Given the description of an element on the screen output the (x, y) to click on. 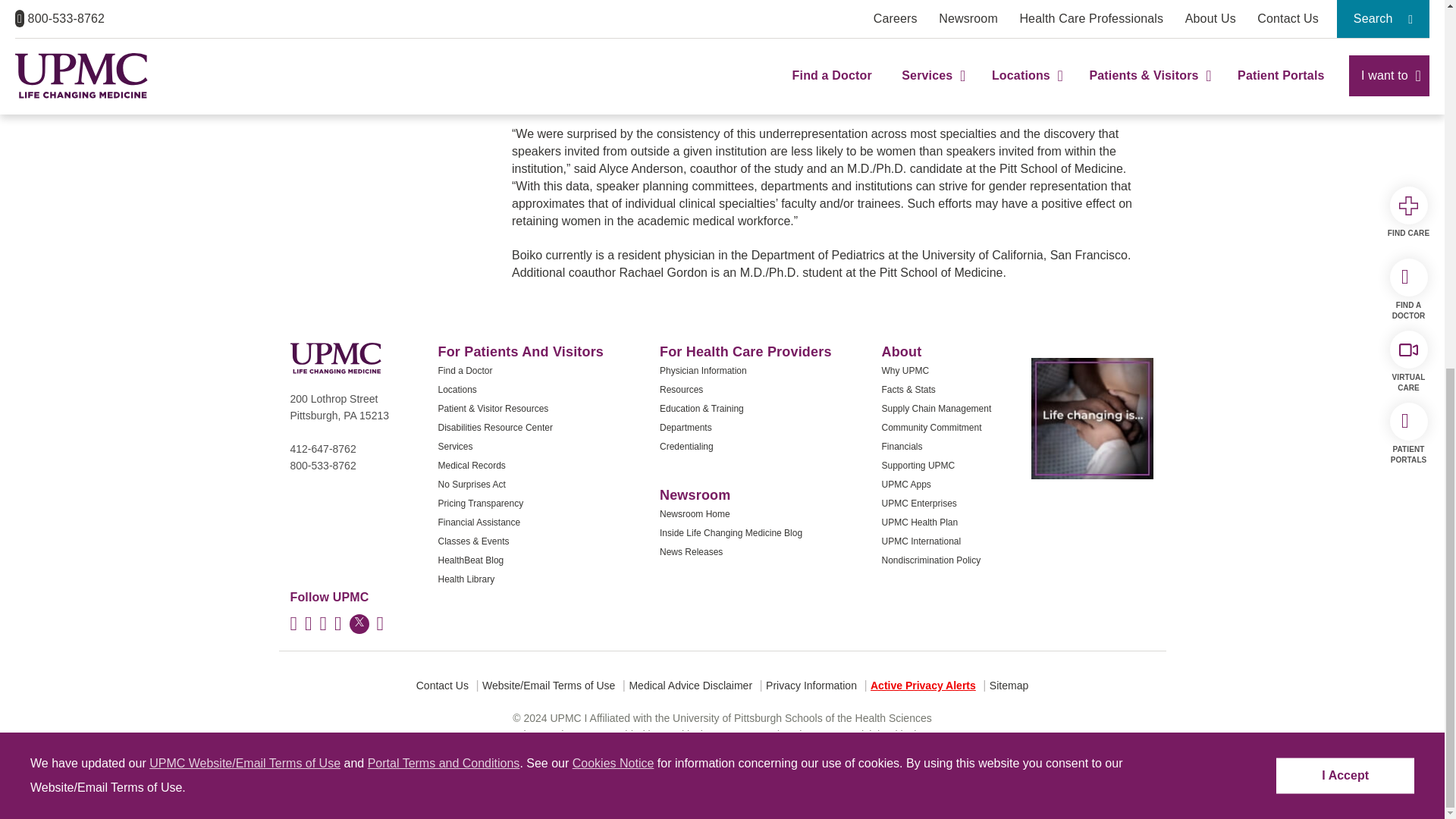
I Accept (1344, 108)
Cookies Notice (612, 95)
Portal Terms and Conditions (443, 95)
